Given the description of an element on the screen output the (x, y) to click on. 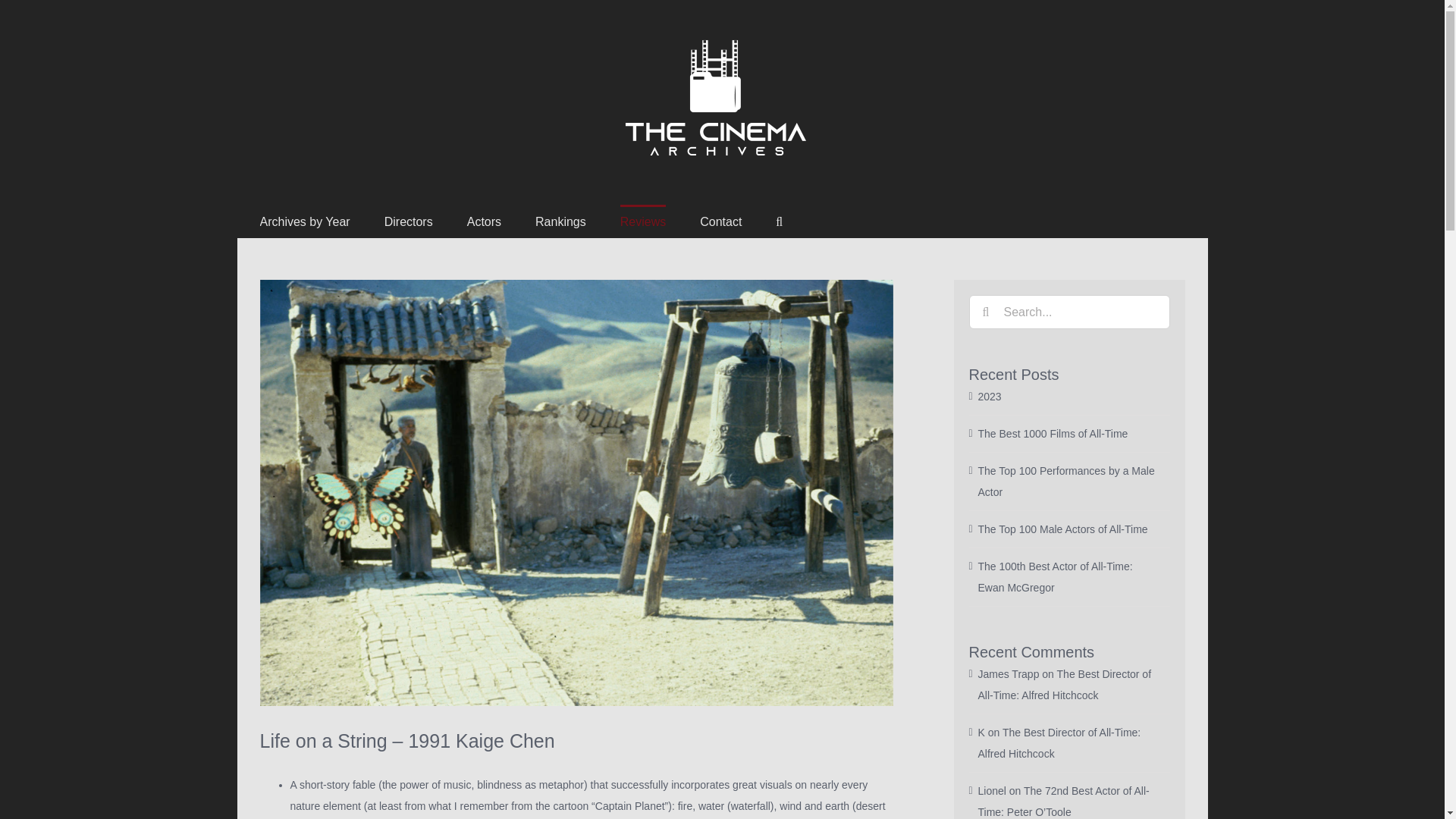
Reviews (642, 220)
Actors (483, 220)
Rankings (560, 220)
Contact (720, 220)
Directors (408, 220)
Archives by Year (304, 220)
